Given the description of an element on the screen output the (x, y) to click on. 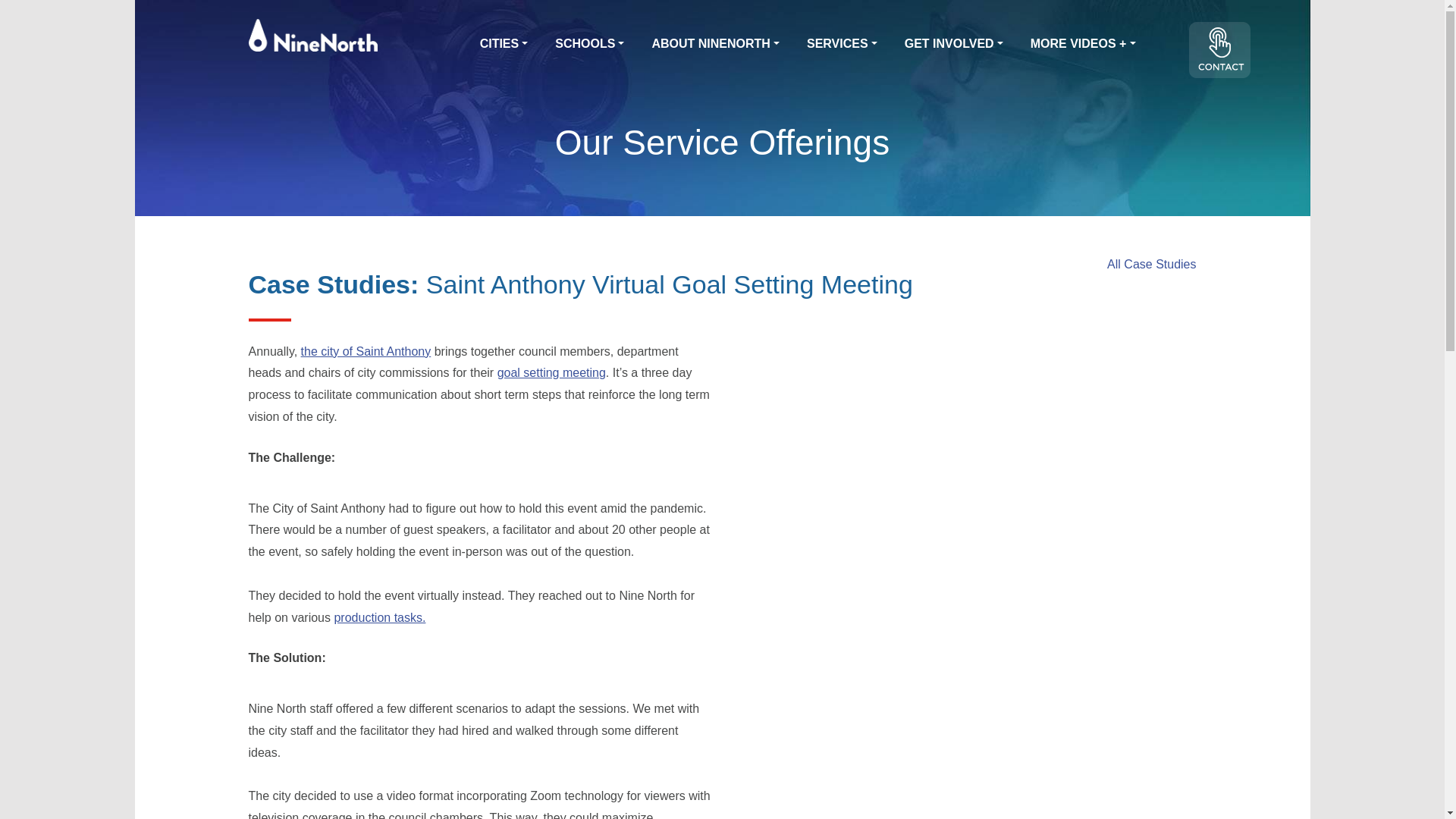
ABOUT NINENORTH (715, 44)
About NineNorth (715, 44)
CITIES (504, 44)
SCHOOLS (589, 44)
Cities (504, 44)
SERVICES (841, 44)
GET INVOLVED (953, 44)
Schools (589, 44)
